Given the description of an element on the screen output the (x, y) to click on. 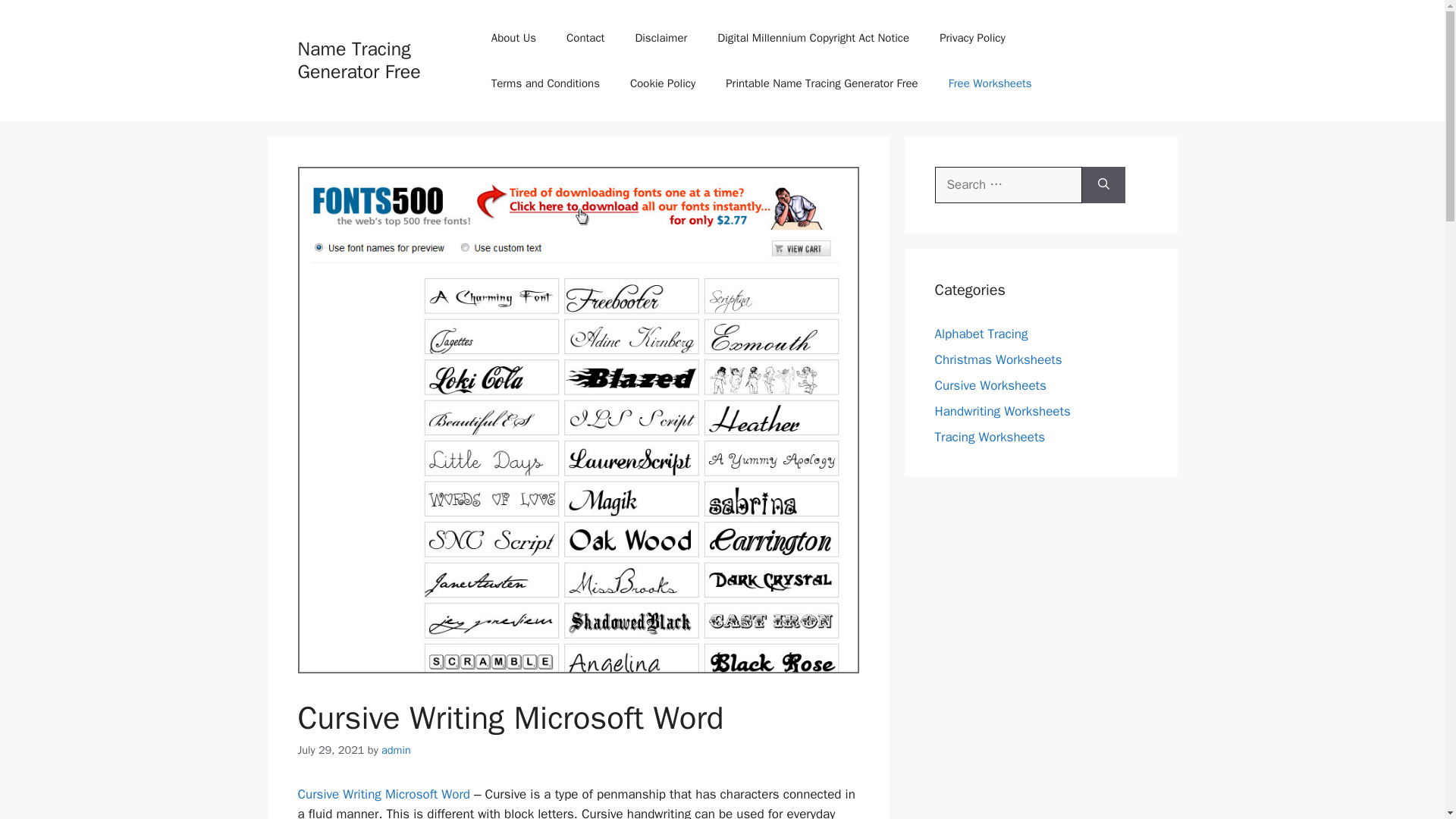
Disclaimer (660, 37)
Digital Millennium Copyright Act Notice (812, 37)
View all posts by admin (395, 749)
admin (395, 749)
Cursive Writing Microsoft Word (382, 794)
Cookie Policy (662, 83)
Tracing Worksheets (989, 437)
Christmas Worksheets (997, 359)
About Us (513, 37)
Search for: (1007, 185)
